Given the description of an element on the screen output the (x, y) to click on. 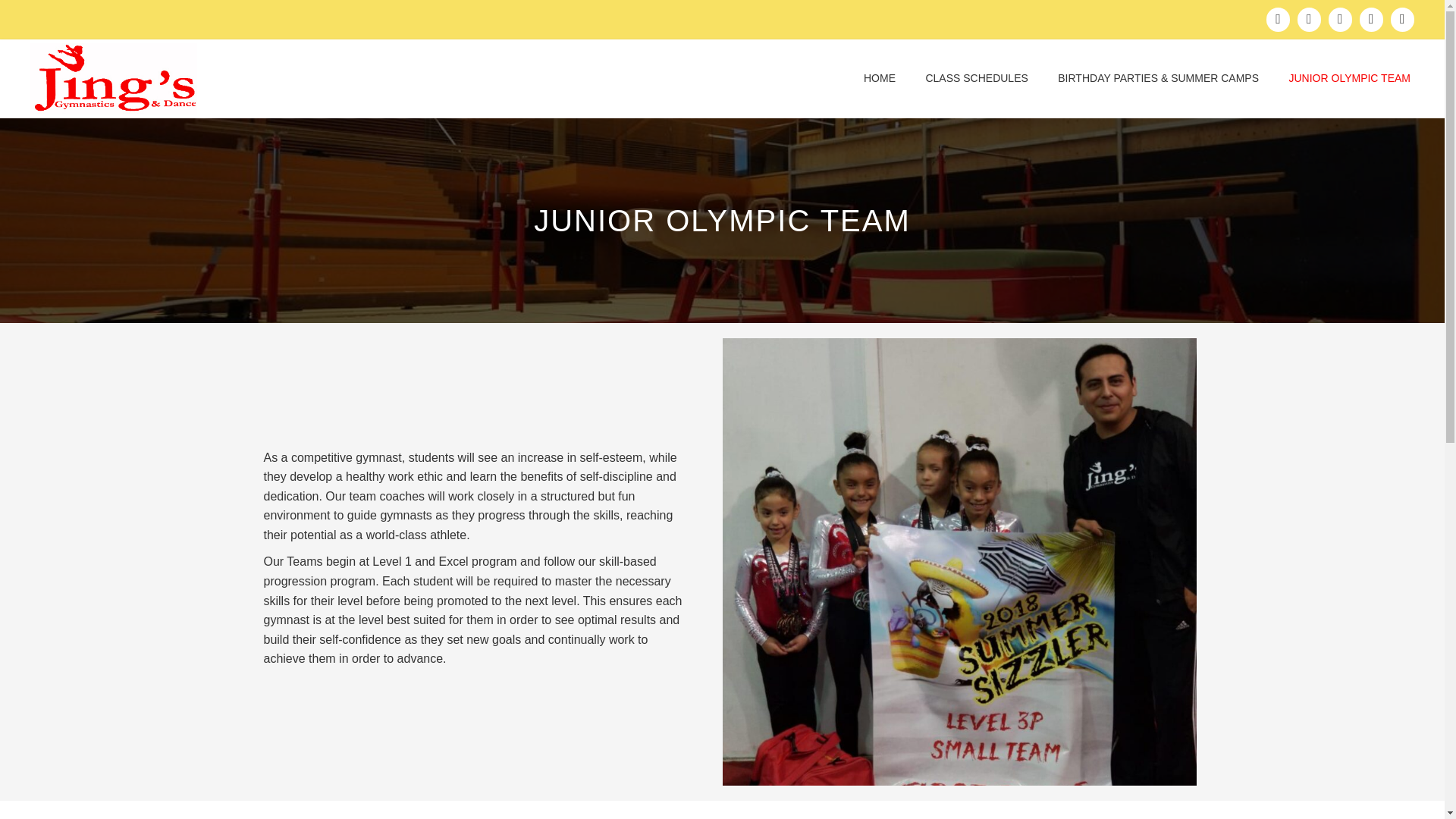
t (113, 78)
JUNIOR OLYMPIC TEAM (1349, 76)
CLASS SCHEDULES (976, 76)
HOME (879, 76)
